Given the description of an element on the screen output the (x, y) to click on. 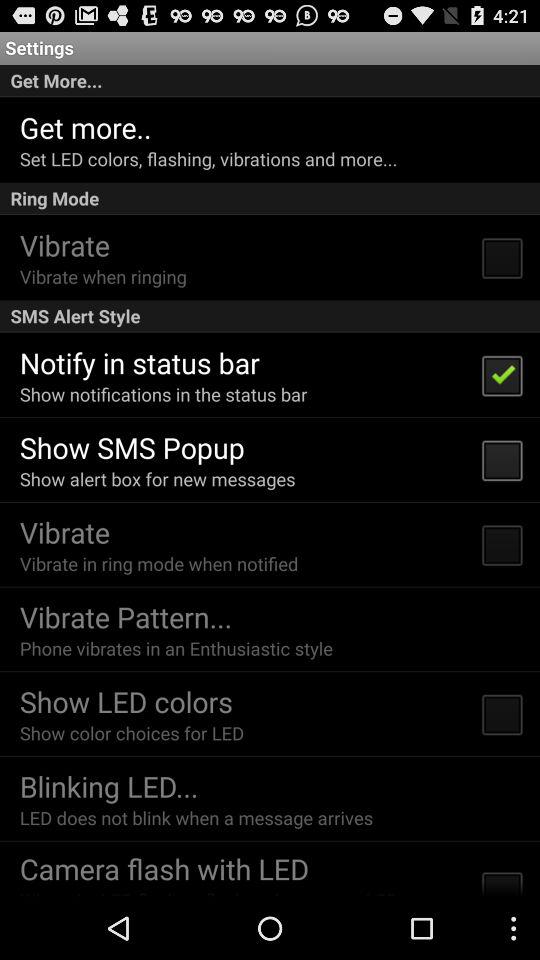
scroll to phone vibrates in item (176, 648)
